Given the description of an element on the screen output the (x, y) to click on. 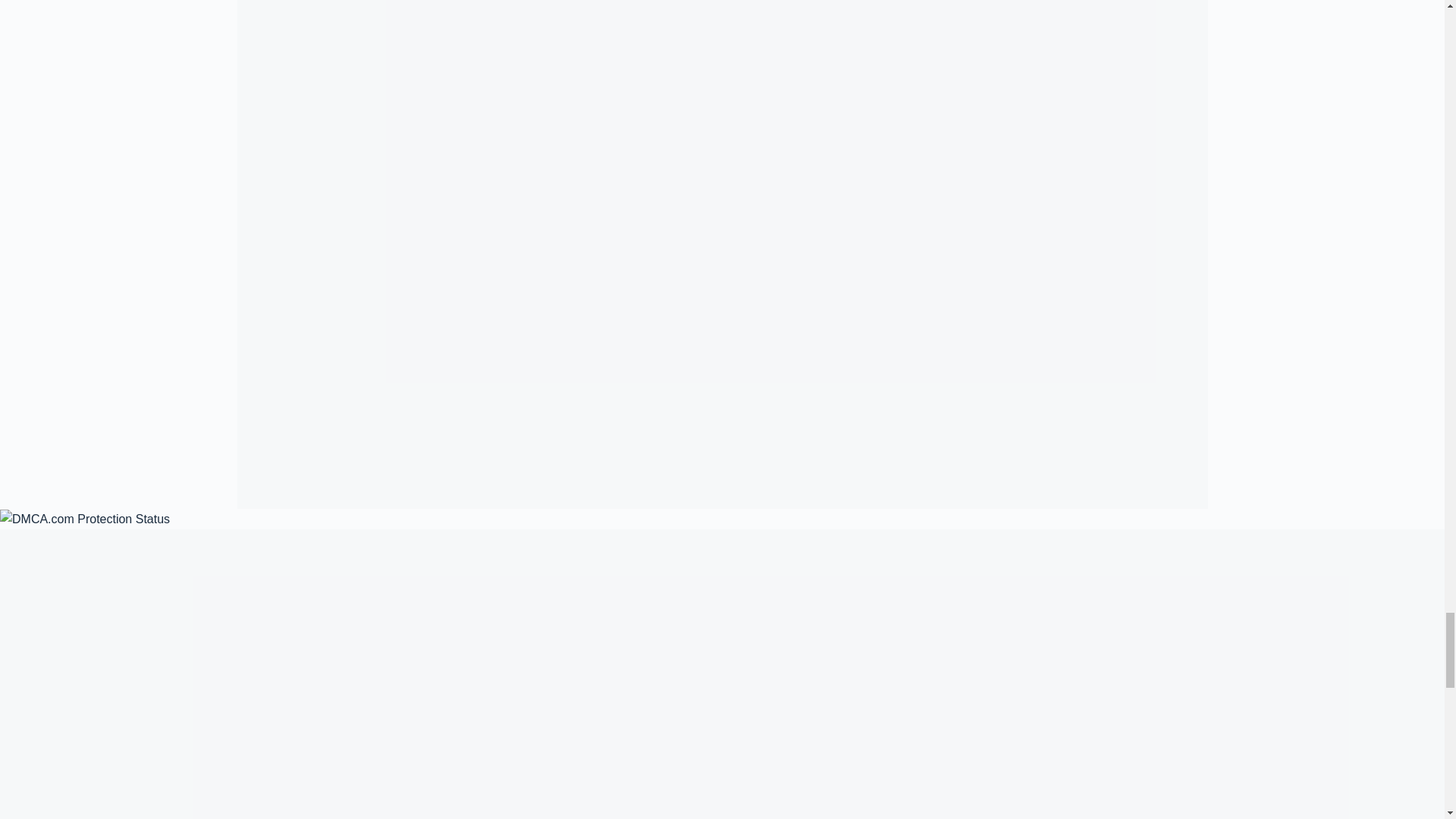
DMCA.com Protection Status (85, 517)
